Given the description of an element on the screen output the (x, y) to click on. 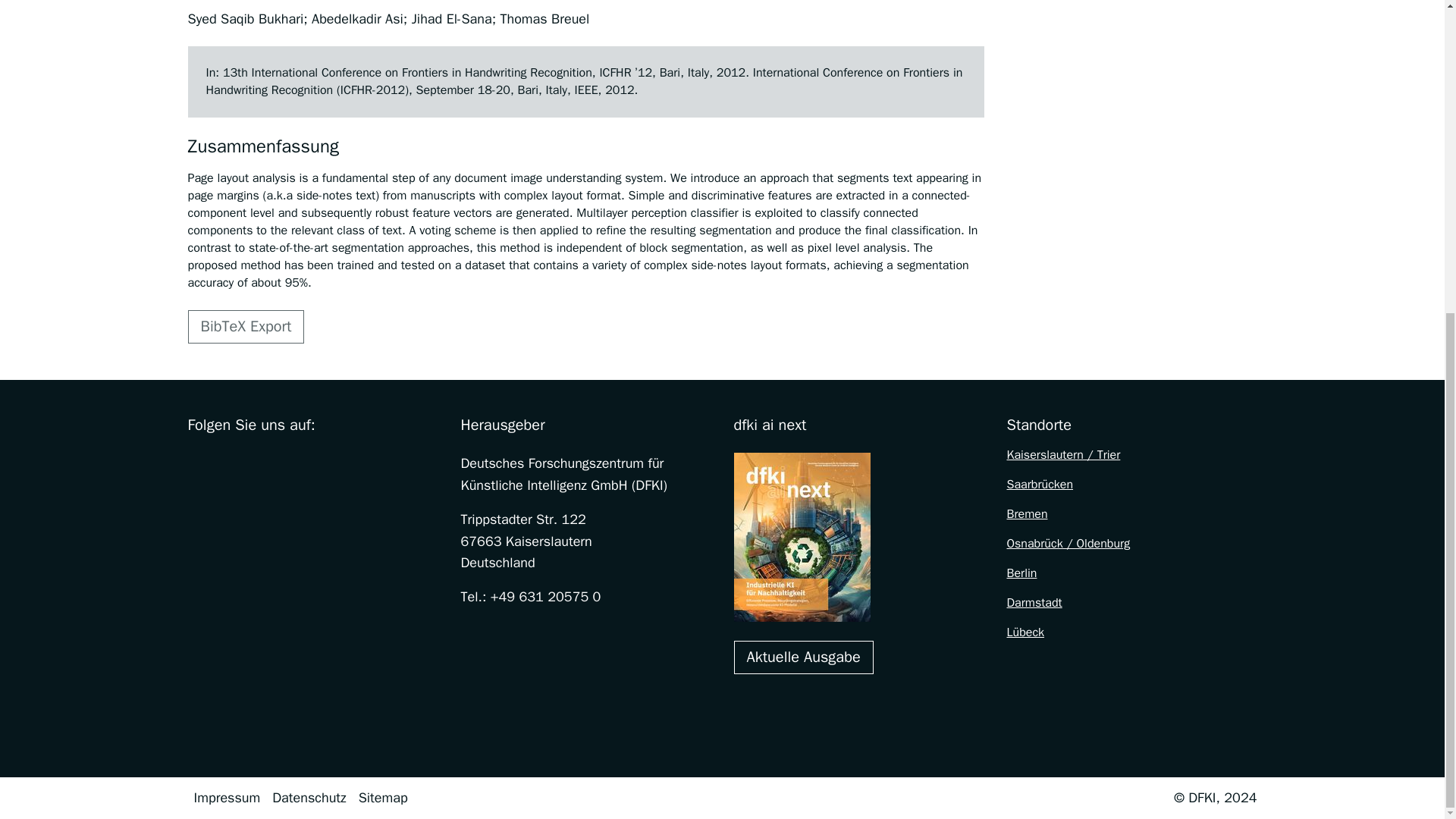
Folgen Sie uns auf: Youtube (292, 462)
Folgen Sie uns auf: LinkedIn (324, 462)
Folgen Sie uns auf: Instagram (229, 462)
Folgen Sie uns auf: Facebook (197, 462)
Folgen Sie uns auf: X (260, 462)
Zum KI-Magazin (803, 657)
